Given the description of an element on the screen output the (x, y) to click on. 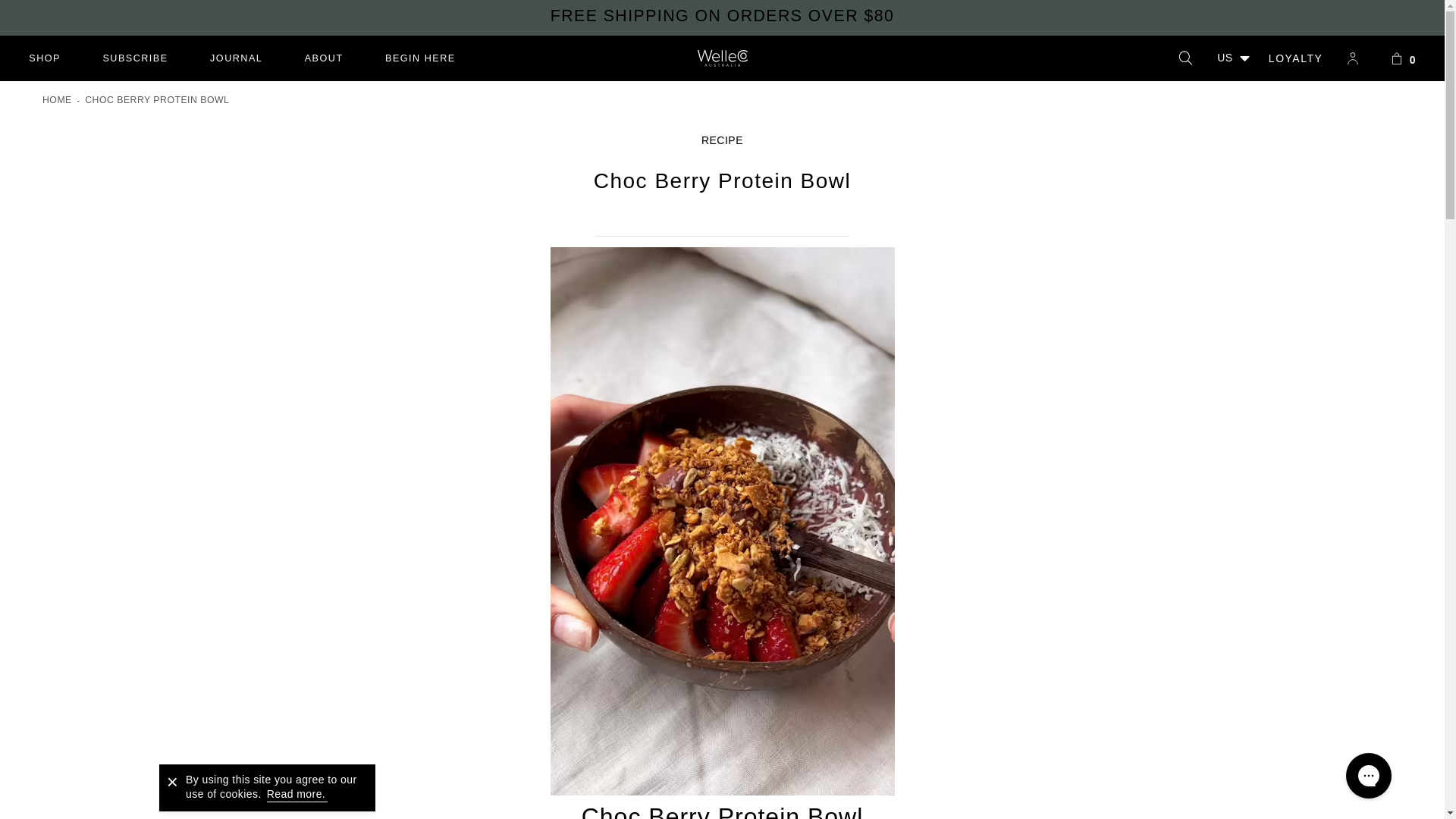
US (1234, 58)
WelleCo US (44, 58)
LOYALTY (722, 57)
BEGIN HERE (1295, 58)
Read more. (323, 58)
SUBSCRIBE (419, 58)
Gorgias live chat messenger (295, 793)
